Given the description of an element on the screen output the (x, y) to click on. 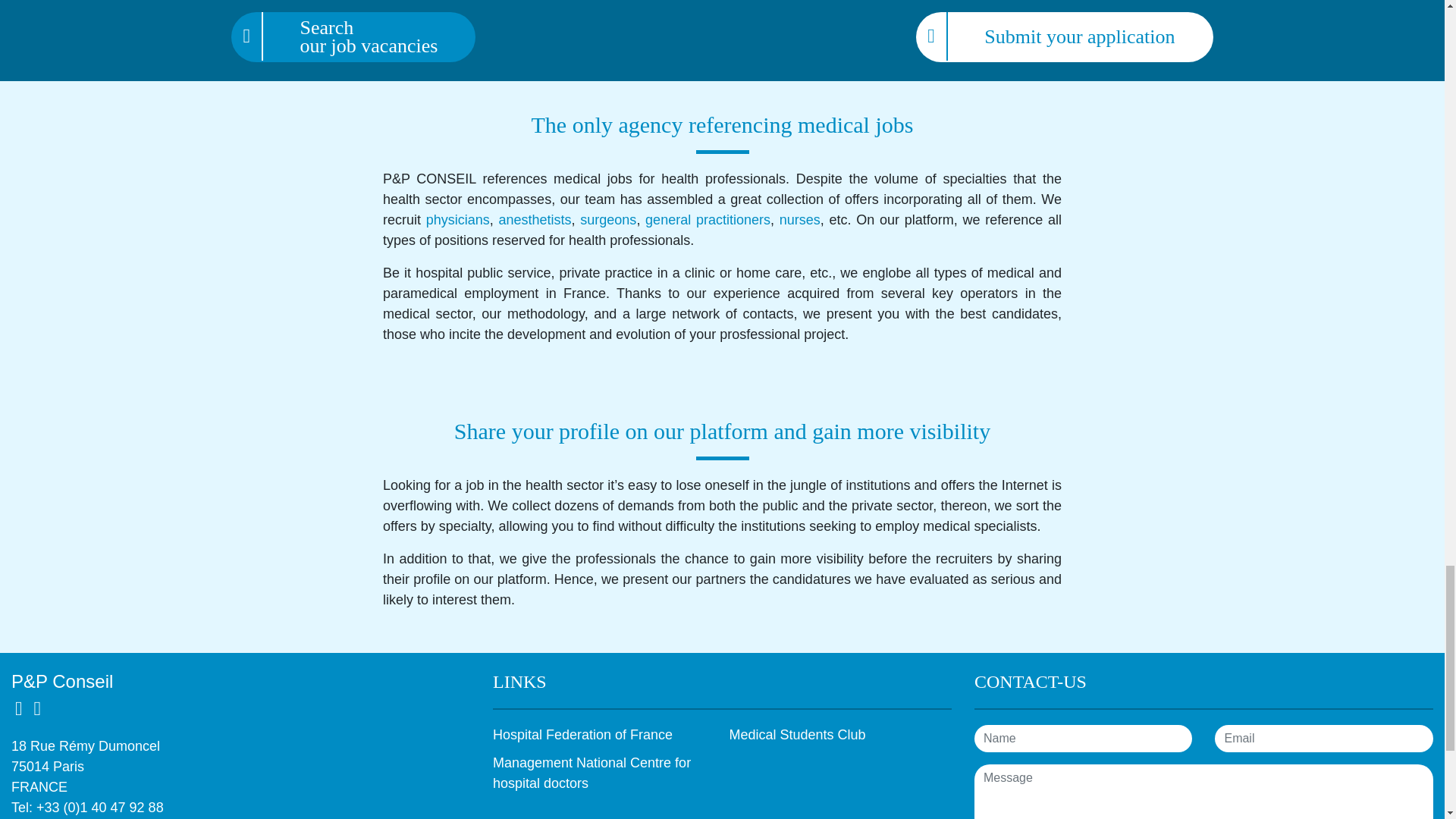
surgeons (607, 219)
Hospital Federation of France (582, 734)
anesthetists (535, 219)
Submit your application (1063, 37)
physicians (457, 219)
nurses (799, 219)
Consulter toutes les annonces (353, 37)
general practitioners (707, 219)
